Given the description of an element on the screen output the (x, y) to click on. 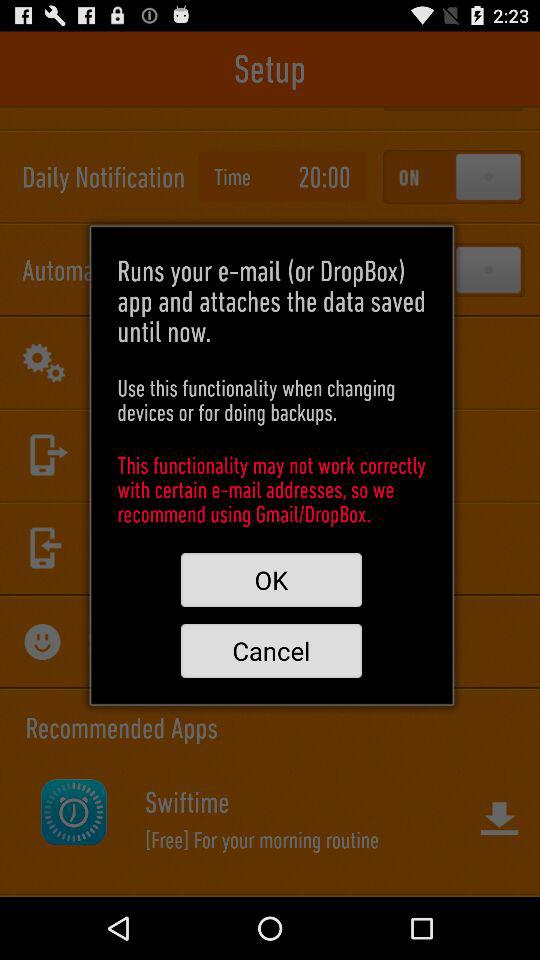
choose item below the this functionality may (271, 580)
